Given the description of an element on the screen output the (x, y) to click on. 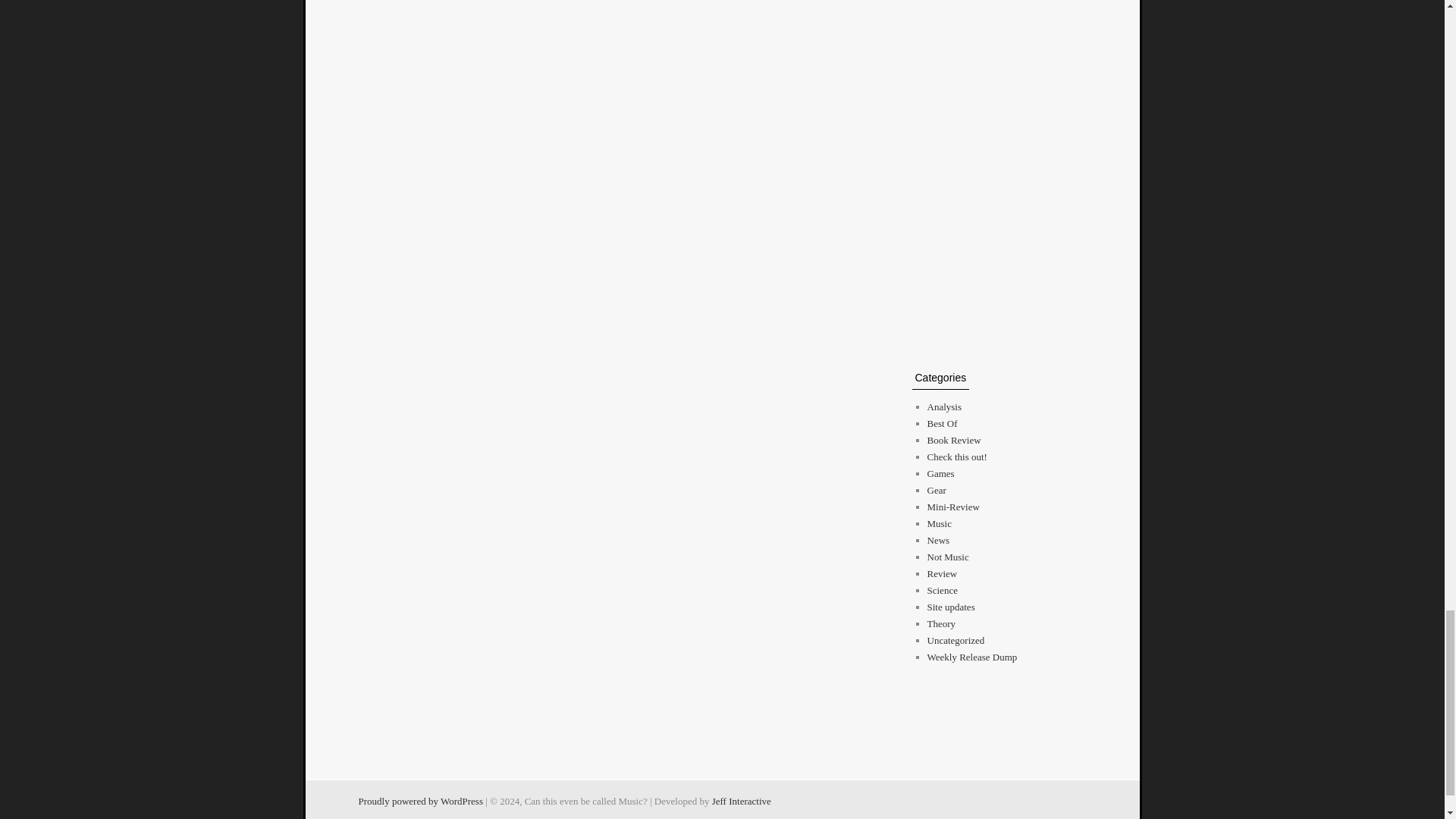
News (937, 540)
Games (939, 473)
Gear (935, 490)
Spotify Embed: January 2024 CTEBCM (994, 17)
Book Review (952, 439)
Mini-Review (952, 506)
Not Music (947, 556)
Best Of (941, 423)
Analysis (943, 406)
Check this out! (956, 456)
Music (939, 523)
Science (941, 590)
Review (941, 573)
